Given the description of an element on the screen output the (x, y) to click on. 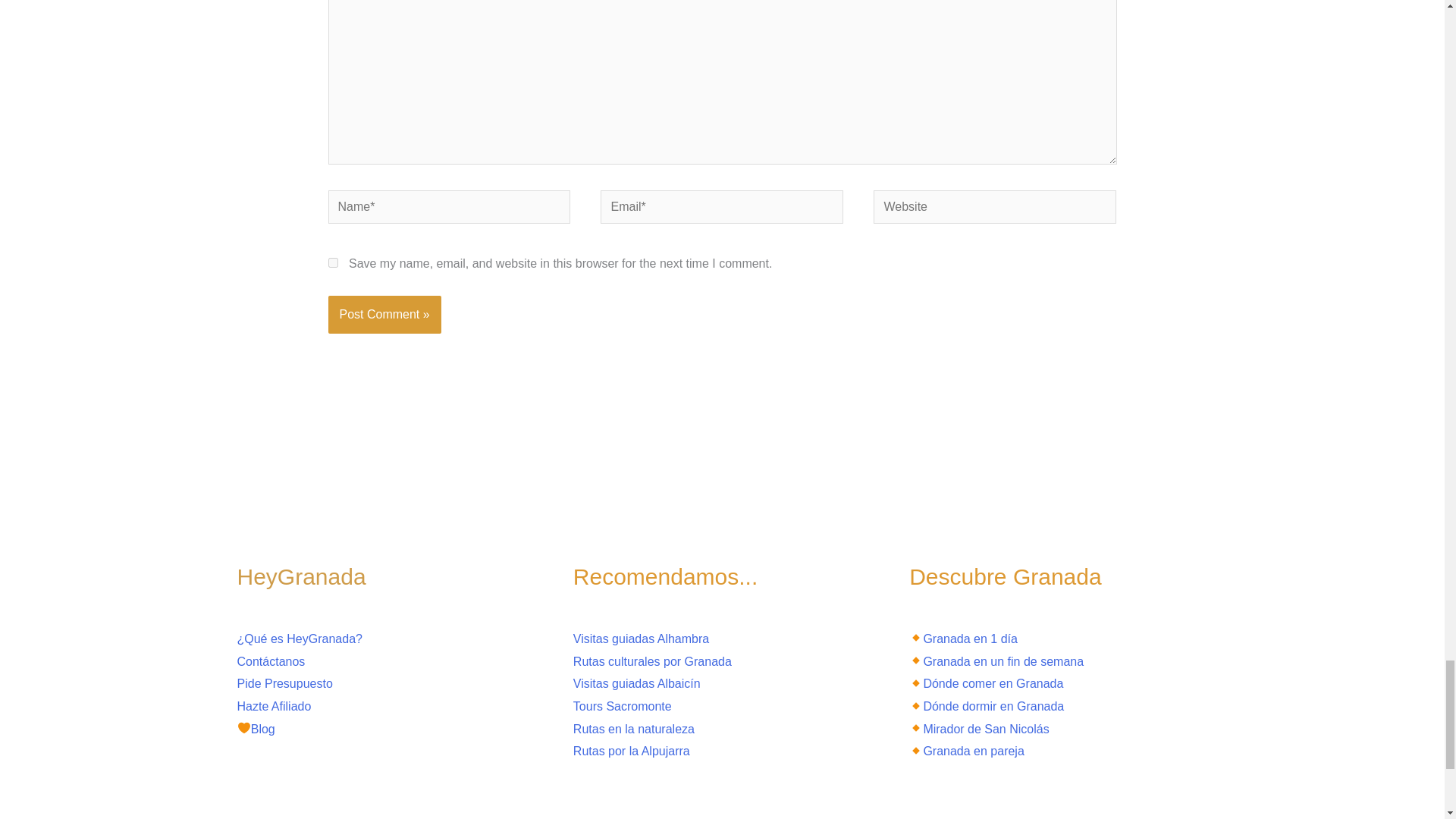
yes (332, 262)
